Given the description of an element on the screen output the (x, y) to click on. 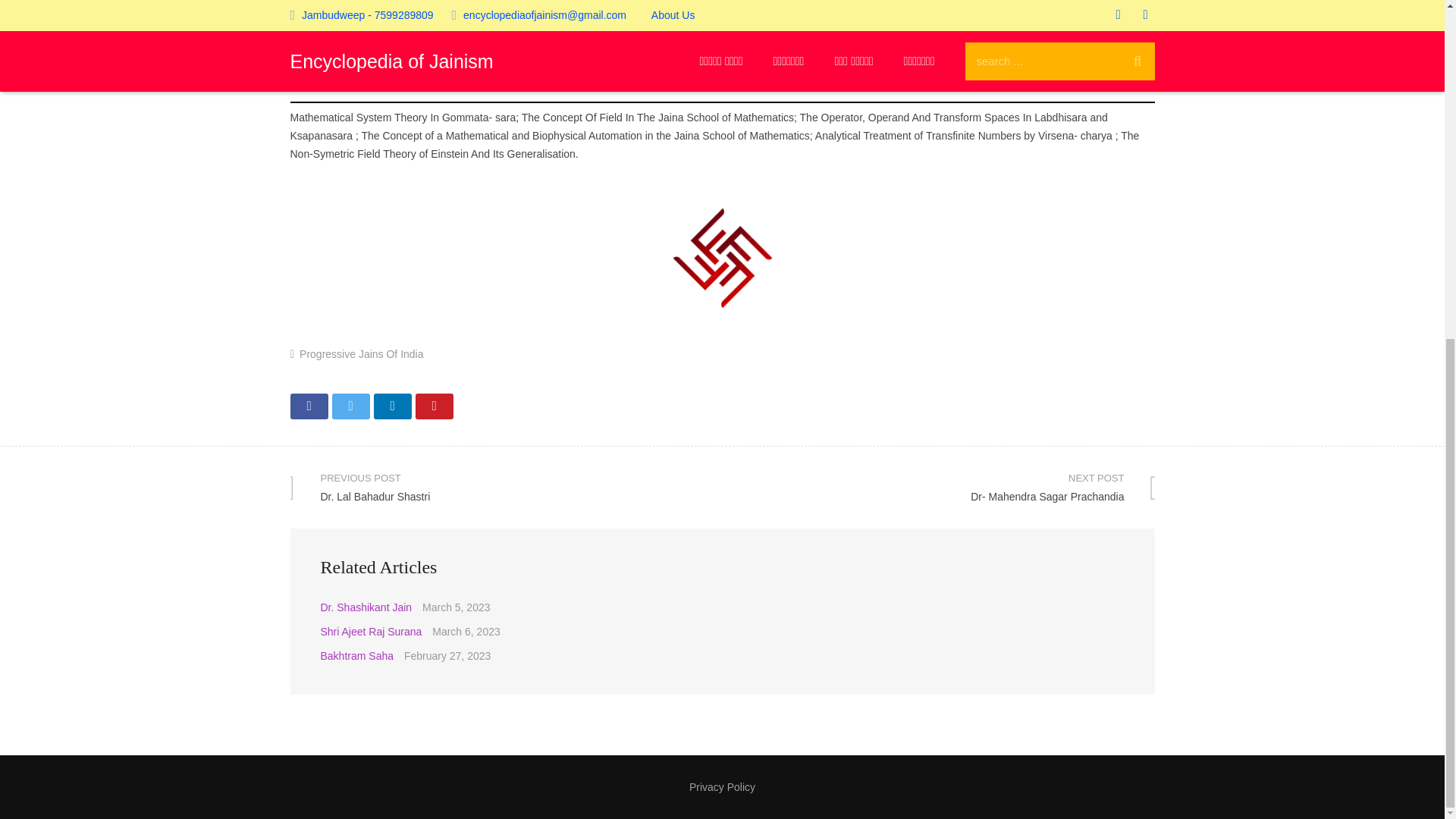
Bakhtram Saha (356, 655)
Dr. Shashikant Jain (366, 607)
Pin this (433, 406)
Progressive Jains Of India (361, 354)
Share this (391, 406)
Share this (505, 487)
Privacy Policy (308, 406)
Shri Ajeet Raj Surana (721, 787)
Tweet this (371, 631)
